Given the description of an element on the screen output the (x, y) to click on. 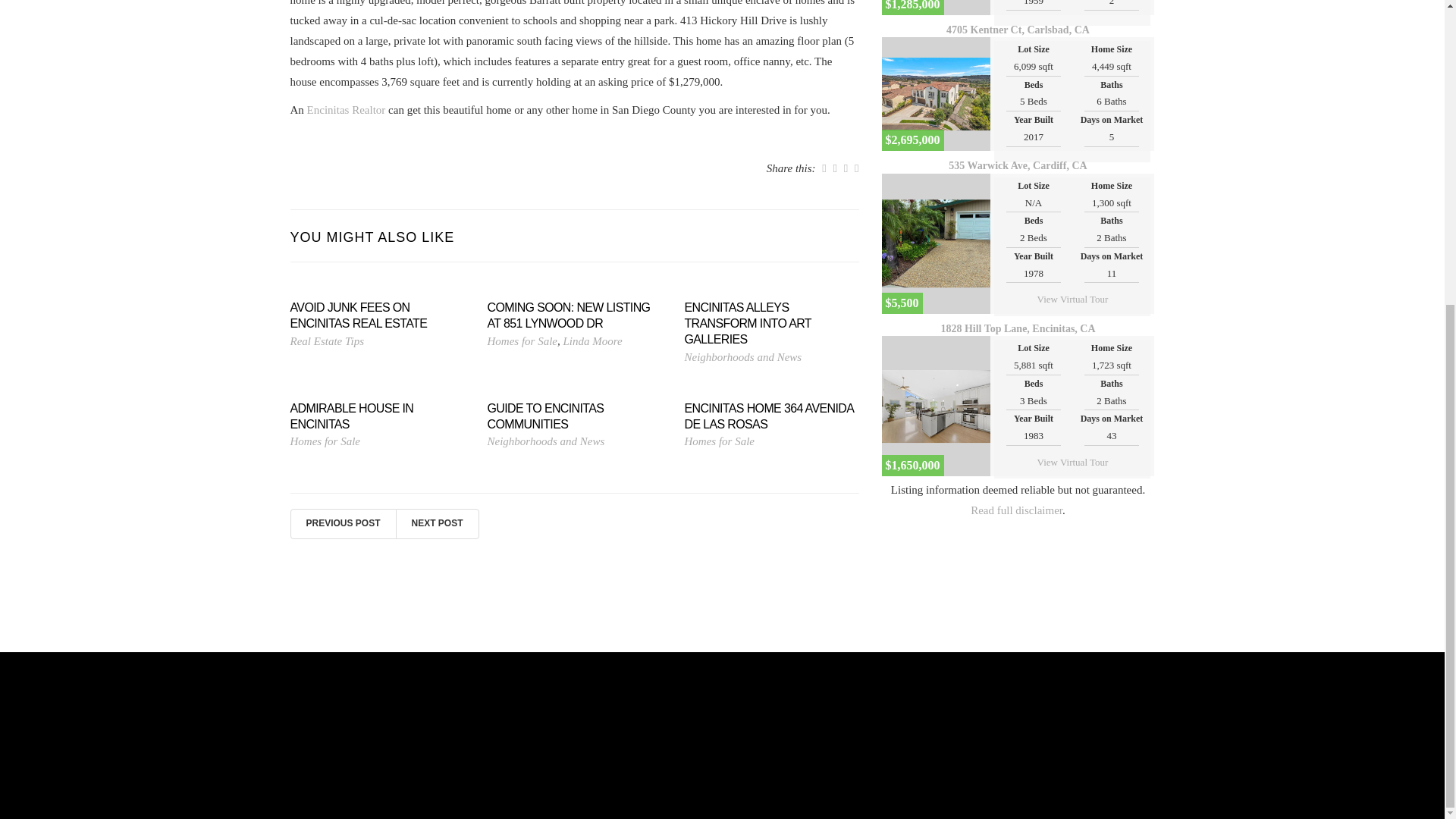
Coming Soon: New Listing at 851 Lynwood Dr (573, 316)
Admirable House in Encinitas (376, 417)
Avoid Junk Fees on Encinitas Real Estate (376, 316)
Encinitas Alleys Transform into Art Galleries (771, 323)
